Given the description of an element on the screen output the (x, y) to click on. 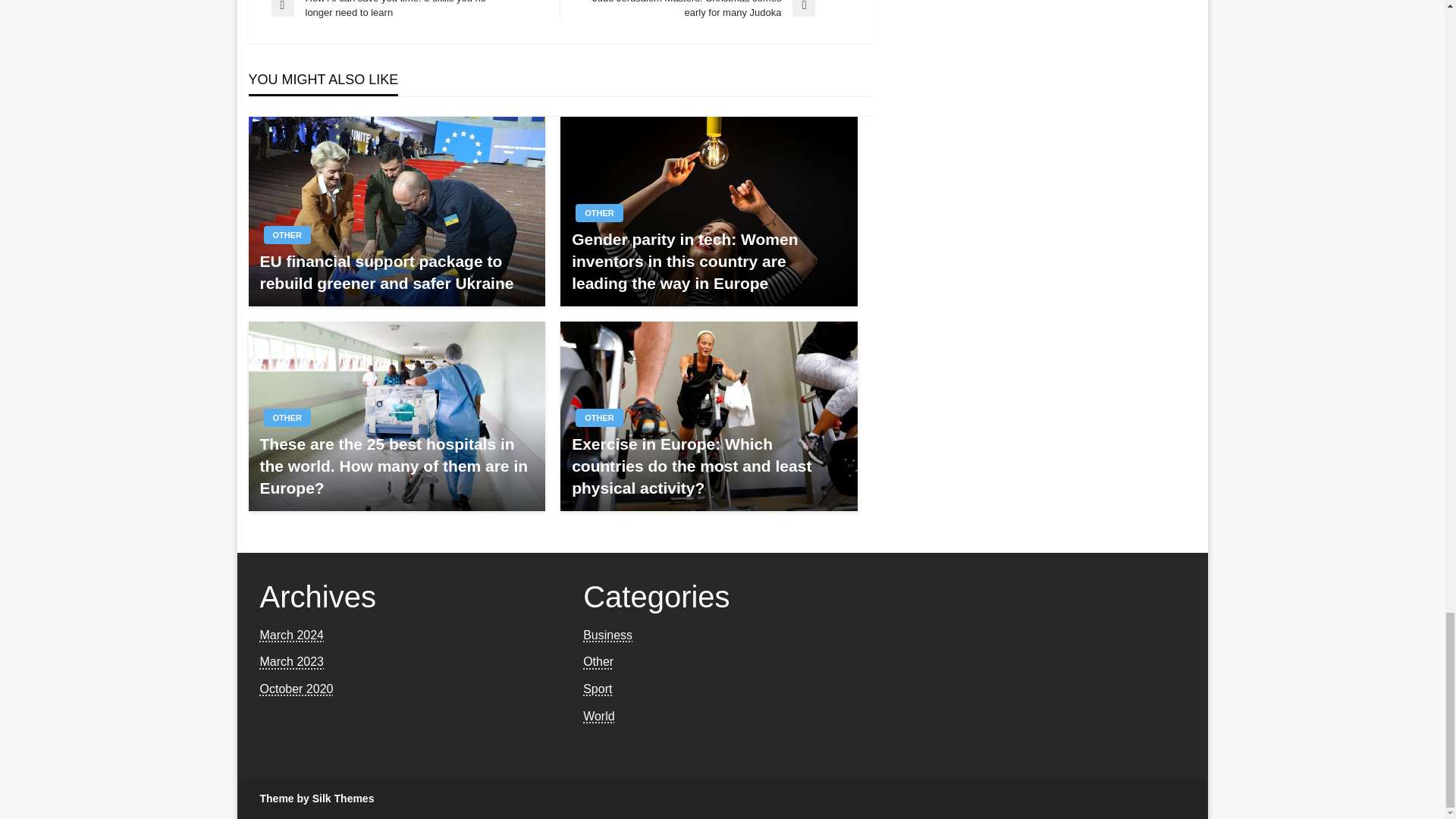
OTHER (287, 235)
OTHER (599, 212)
OTHER (287, 417)
